Given the description of an element on the screen output the (x, y) to click on. 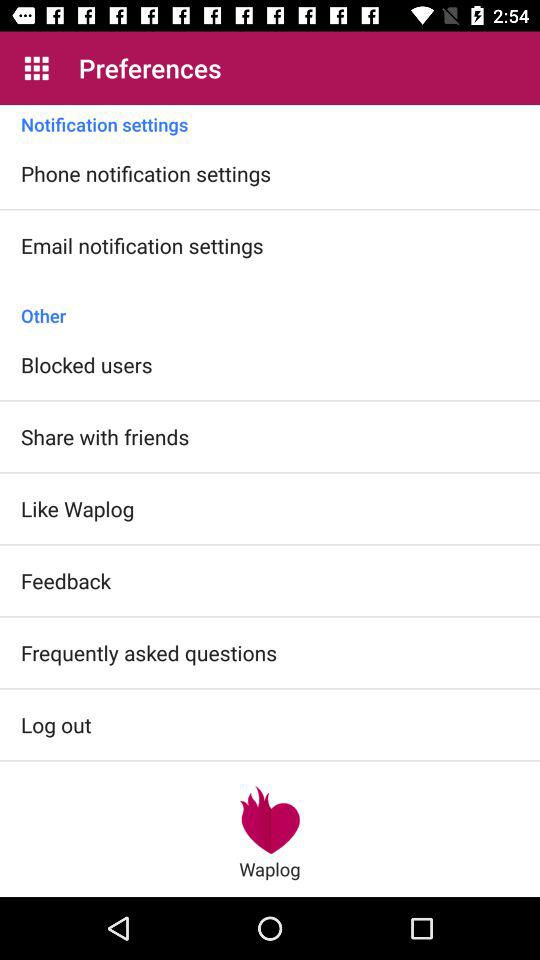
turn on the icon below the like waplog icon (66, 580)
